Given the description of an element on the screen output the (x, y) to click on. 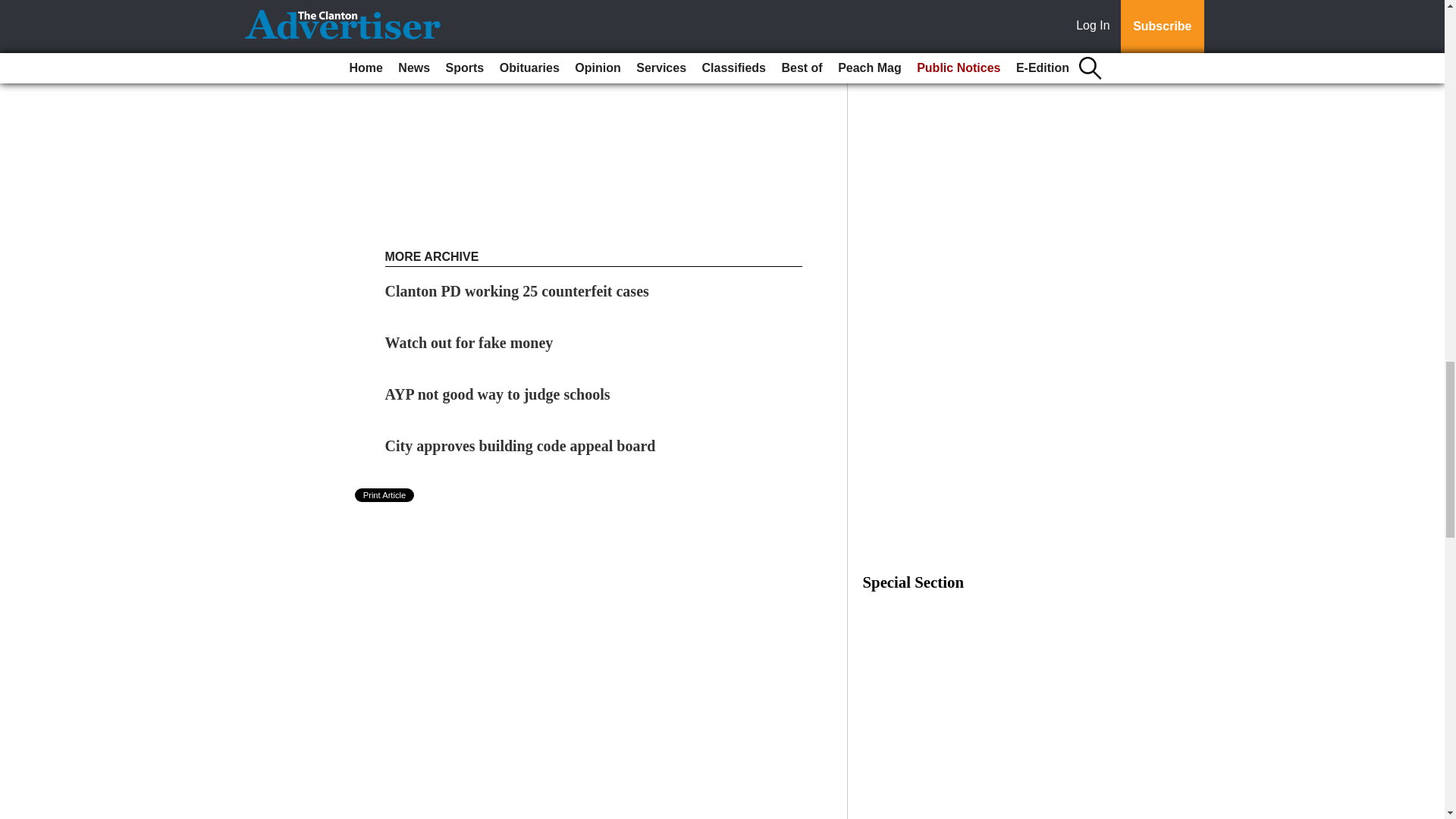
Clanton PD working 25 counterfeit cases (517, 290)
City approves building code appeal board (520, 445)
Watch out for fake money (469, 342)
Watch out for fake money (469, 342)
Print Article (384, 495)
City approves building code  appeal board (520, 445)
AYP not good way to judge schools (497, 393)
AYP not good way to judge schools (497, 393)
Clanton PD working 25 counterfeit cases (517, 290)
